Given the description of an element on the screen output the (x, y) to click on. 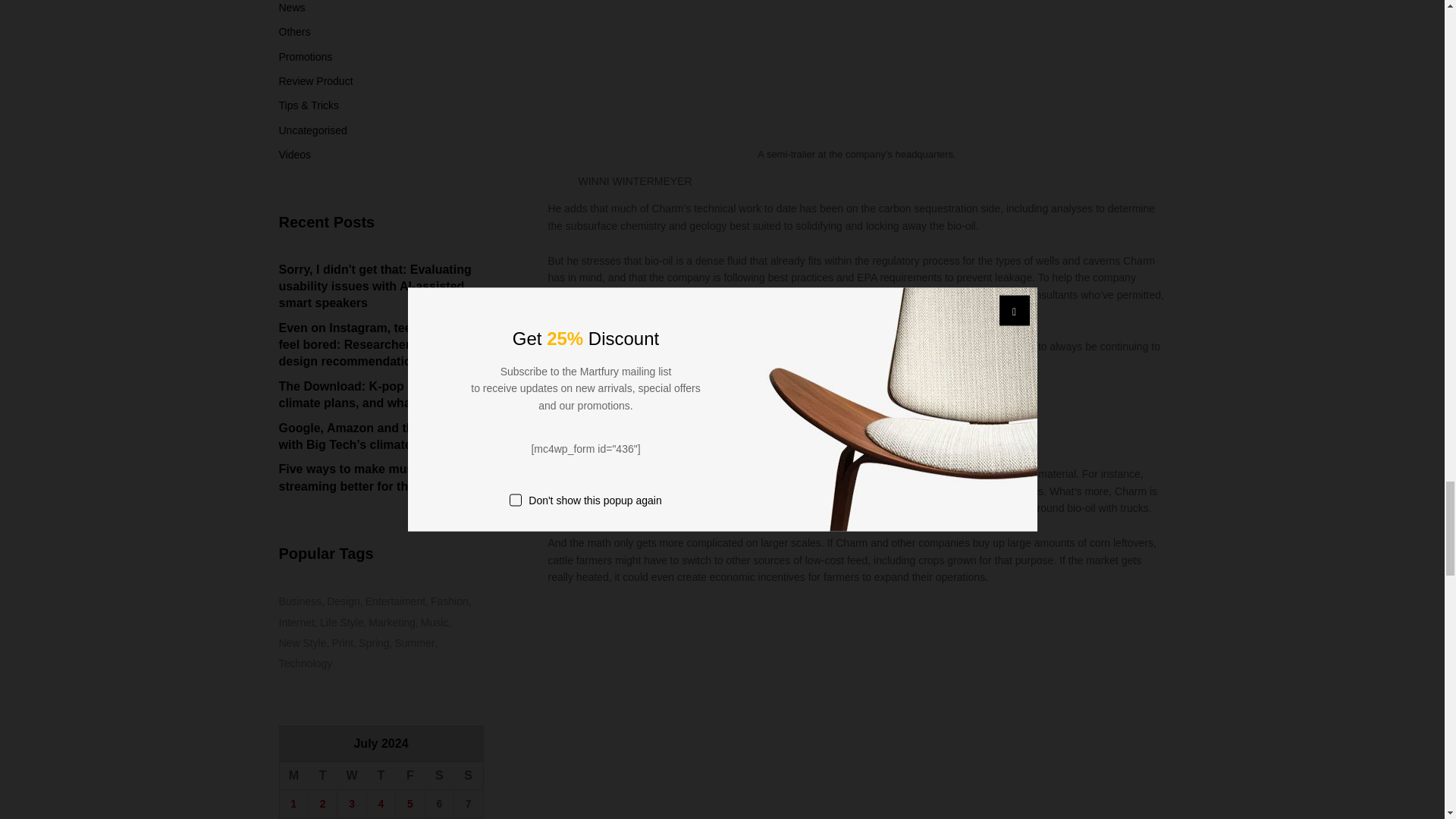
Monday (293, 775)
Tuesday (321, 775)
Saturday (438, 775)
Thursday (380, 775)
Sunday (468, 775)
Wednesday (351, 775)
Friday (410, 775)
